Given the description of an element on the screen output the (x, y) to click on. 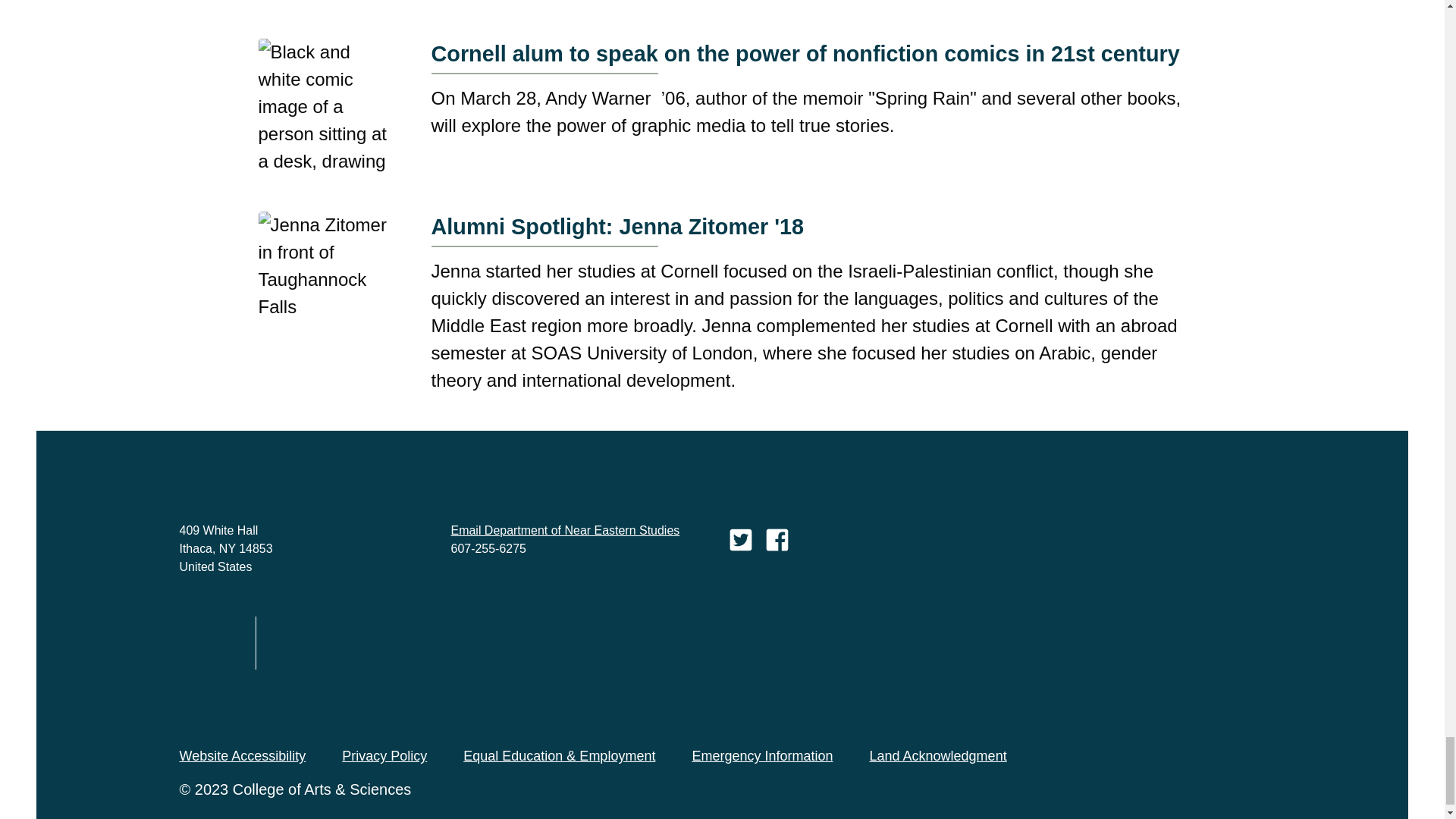
Cornell University (209, 642)
